Given the description of an element on the screen output the (x, y) to click on. 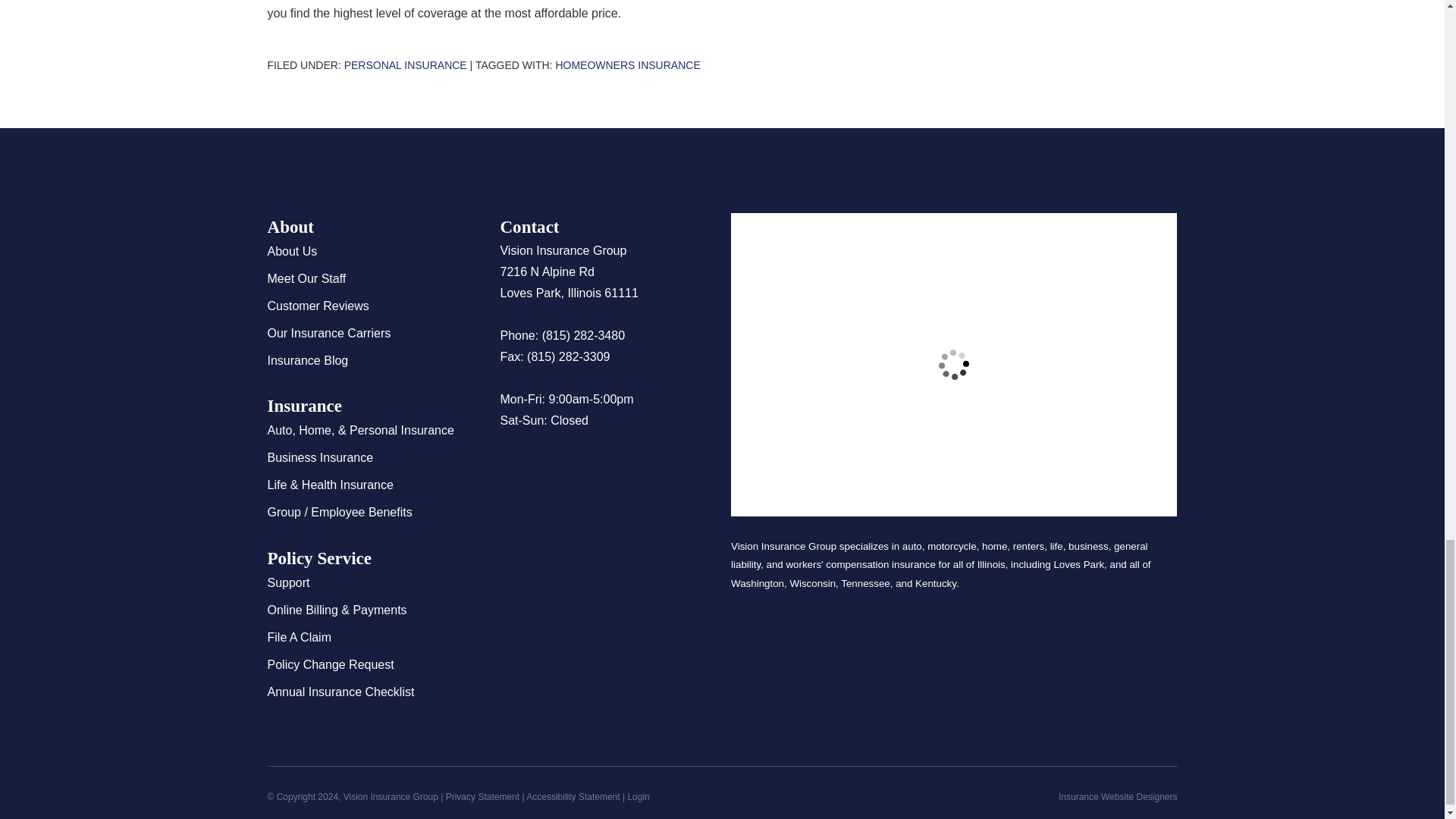
Personal Insurance (405, 64)
Homeowners Insurance (627, 64)
Google Maps (511, 465)
